Given the description of an element on the screen output the (x, y) to click on. 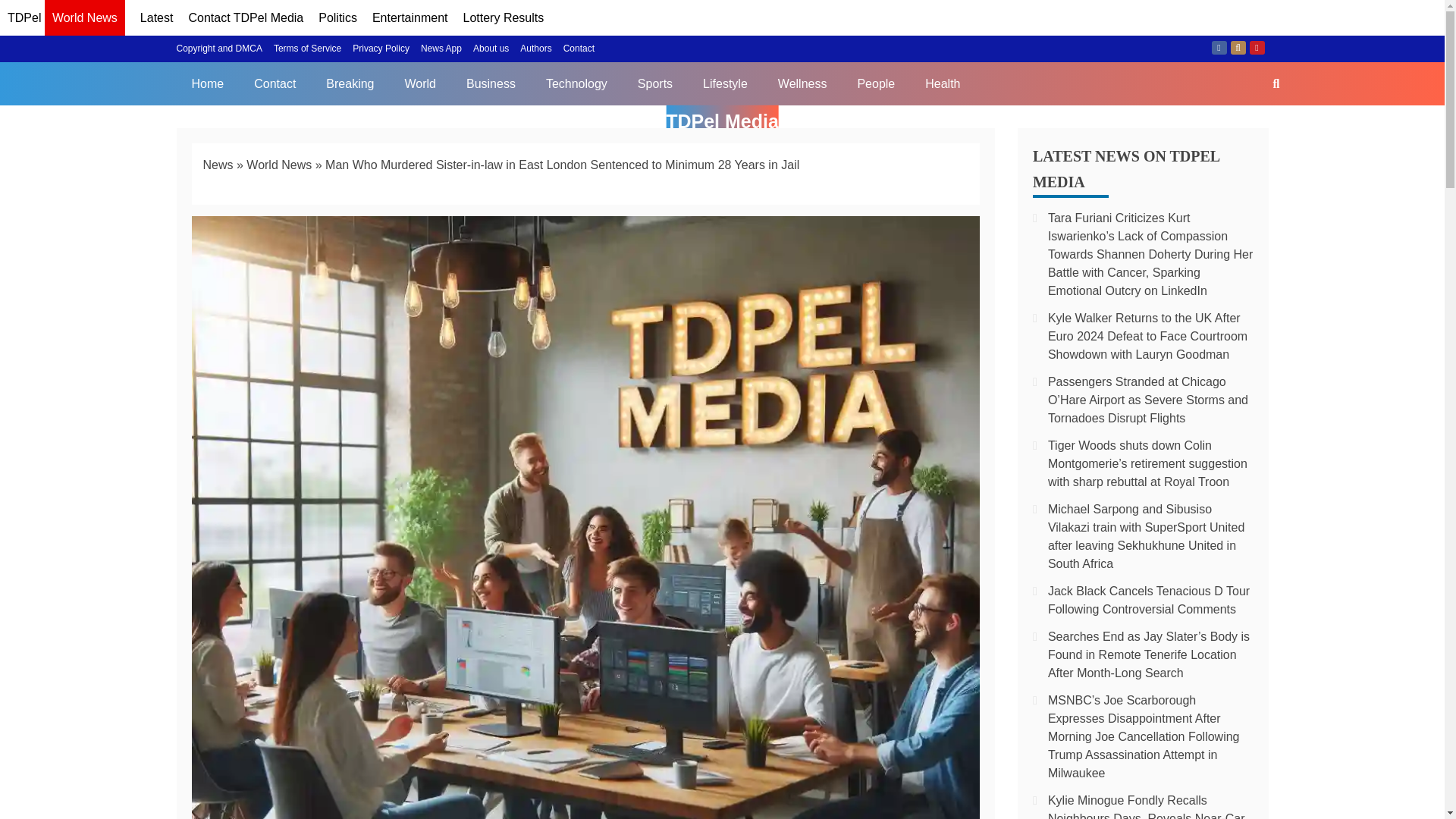
Technology (577, 83)
Authors (535, 48)
Terms of Service (306, 48)
Facebook (1219, 47)
Lifestyle (724, 83)
TDPel (23, 17)
Pinterest (1257, 47)
Politics (337, 17)
World News (85, 19)
Wellness (802, 83)
Contact (578, 48)
Home (207, 83)
X (1237, 47)
Latest (156, 17)
